Given the description of an element on the screen output the (x, y) to click on. 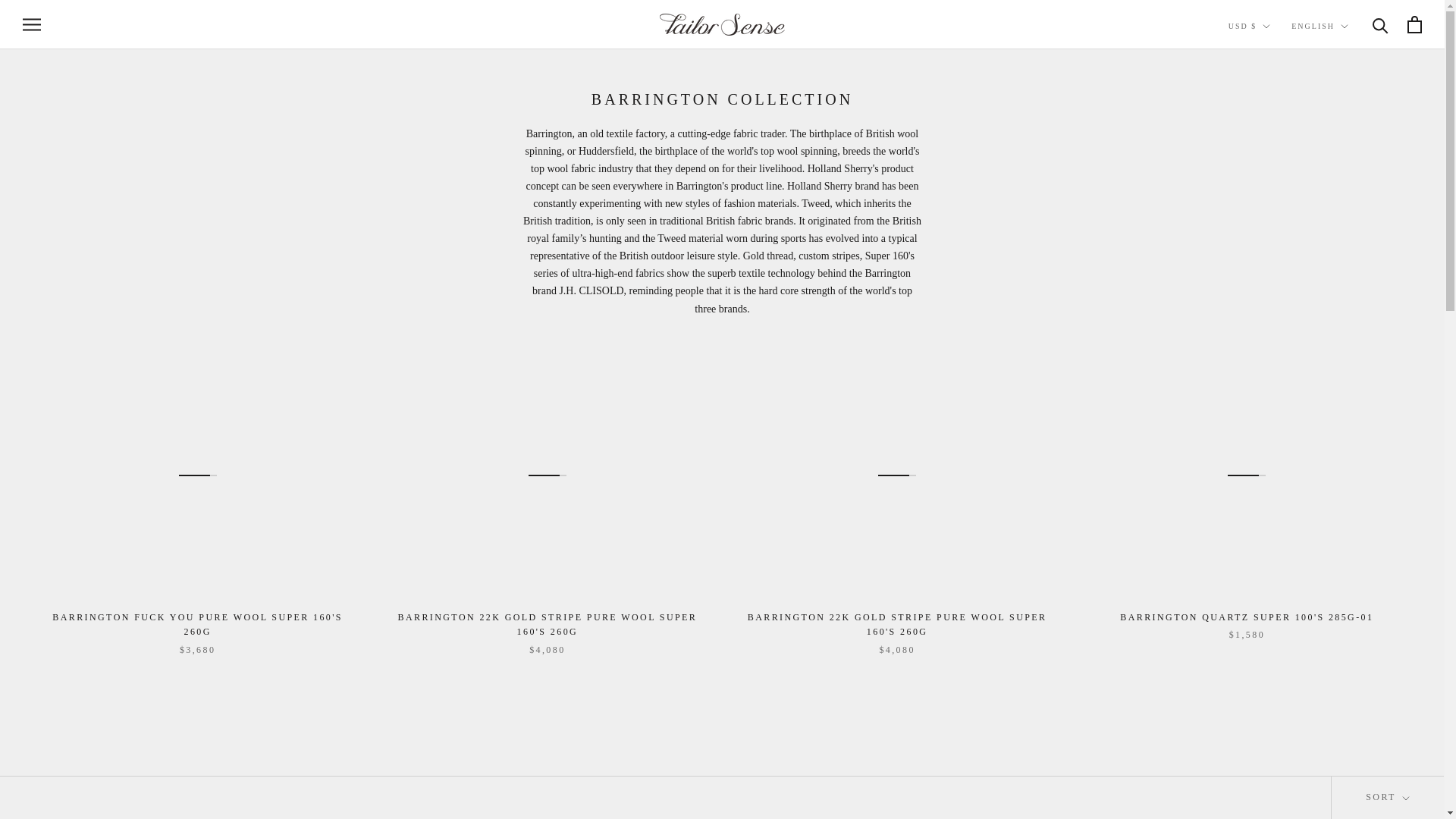
BBD (1275, 239)
AMD (1275, 118)
BDT (1275, 258)
AED (1275, 57)
BND (1275, 319)
BIF (1275, 299)
ALL (1275, 97)
ANG (1275, 137)
AUD (1275, 158)
BAM (1275, 218)
